Given the description of an element on the screen output the (x, y) to click on. 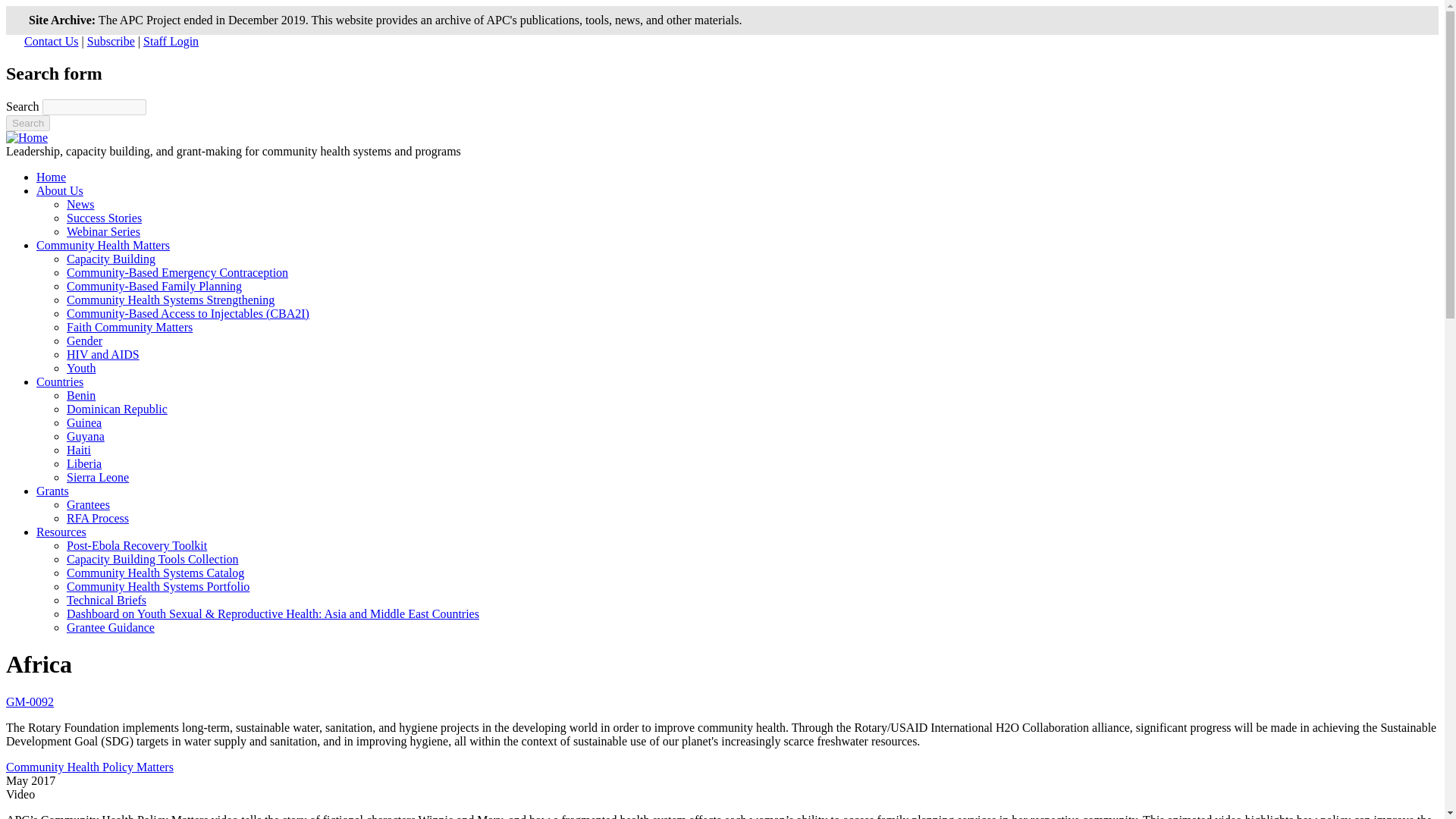
Community Health Systems Strengthening (170, 299)
Grants (52, 490)
Faith Community Matters (129, 327)
Capacity Building (110, 258)
Community Health Matters (103, 245)
Dominican Republic (116, 408)
About Us (59, 190)
Subscribe (111, 41)
Search (27, 123)
Youth (81, 367)
Resources (60, 531)
Dominican Republic (116, 408)
Community Health Systems Catalog (155, 572)
Staff Login (170, 41)
Contact Us (51, 41)
